Given the description of an element on the screen output the (x, y) to click on. 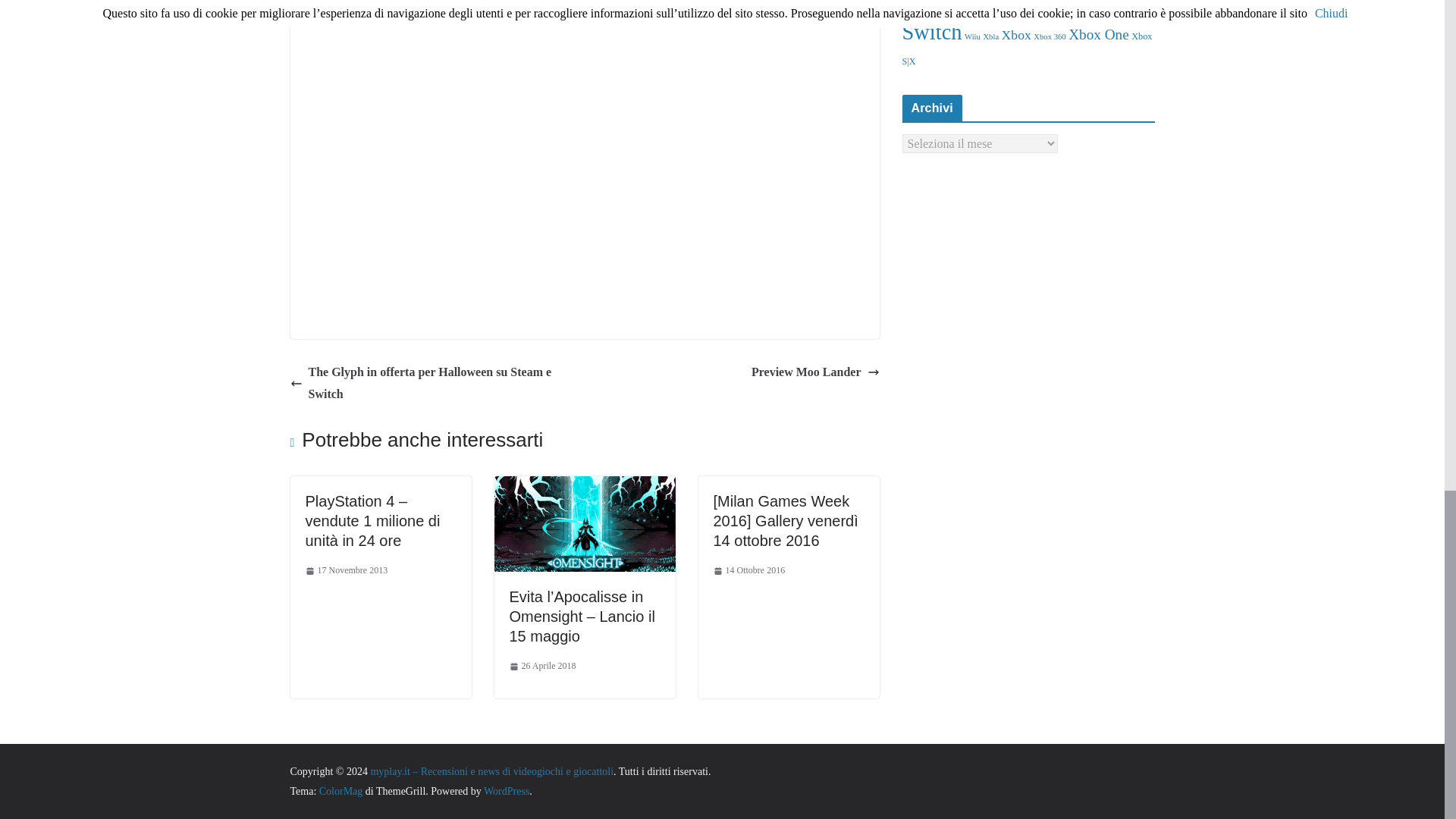
Preview Moo Lander (815, 372)
12:08 (542, 666)
16:31 (748, 570)
26 Aprile 2018 (542, 666)
17 Novembre 2013 (345, 570)
14:16 (345, 570)
The Glyph in offerta per Halloween su Steam e Switch (432, 383)
